Given the description of an element on the screen output the (x, y) to click on. 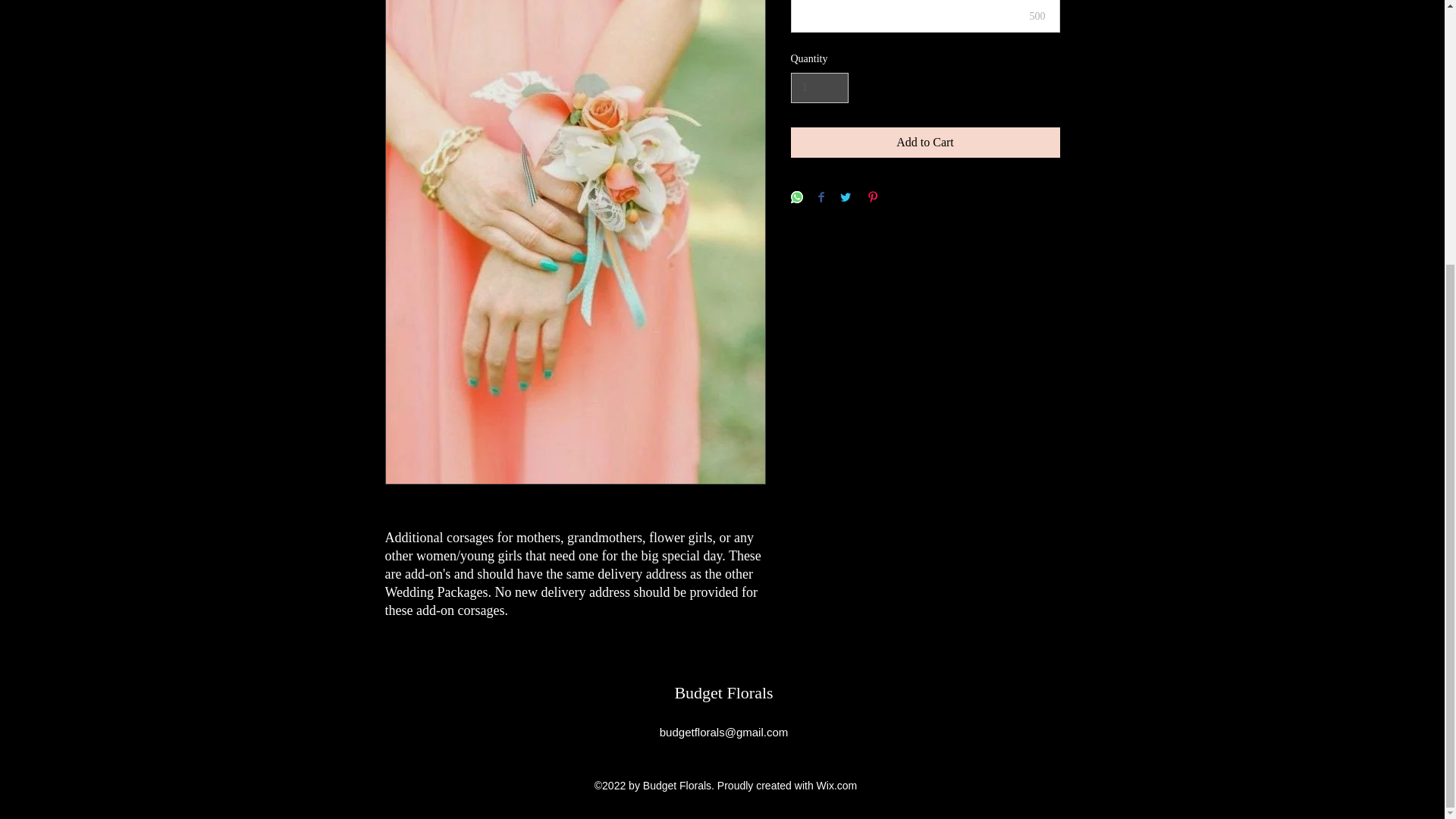
1 (818, 88)
Add to Cart (924, 142)
